Given the description of an element on the screen output the (x, y) to click on. 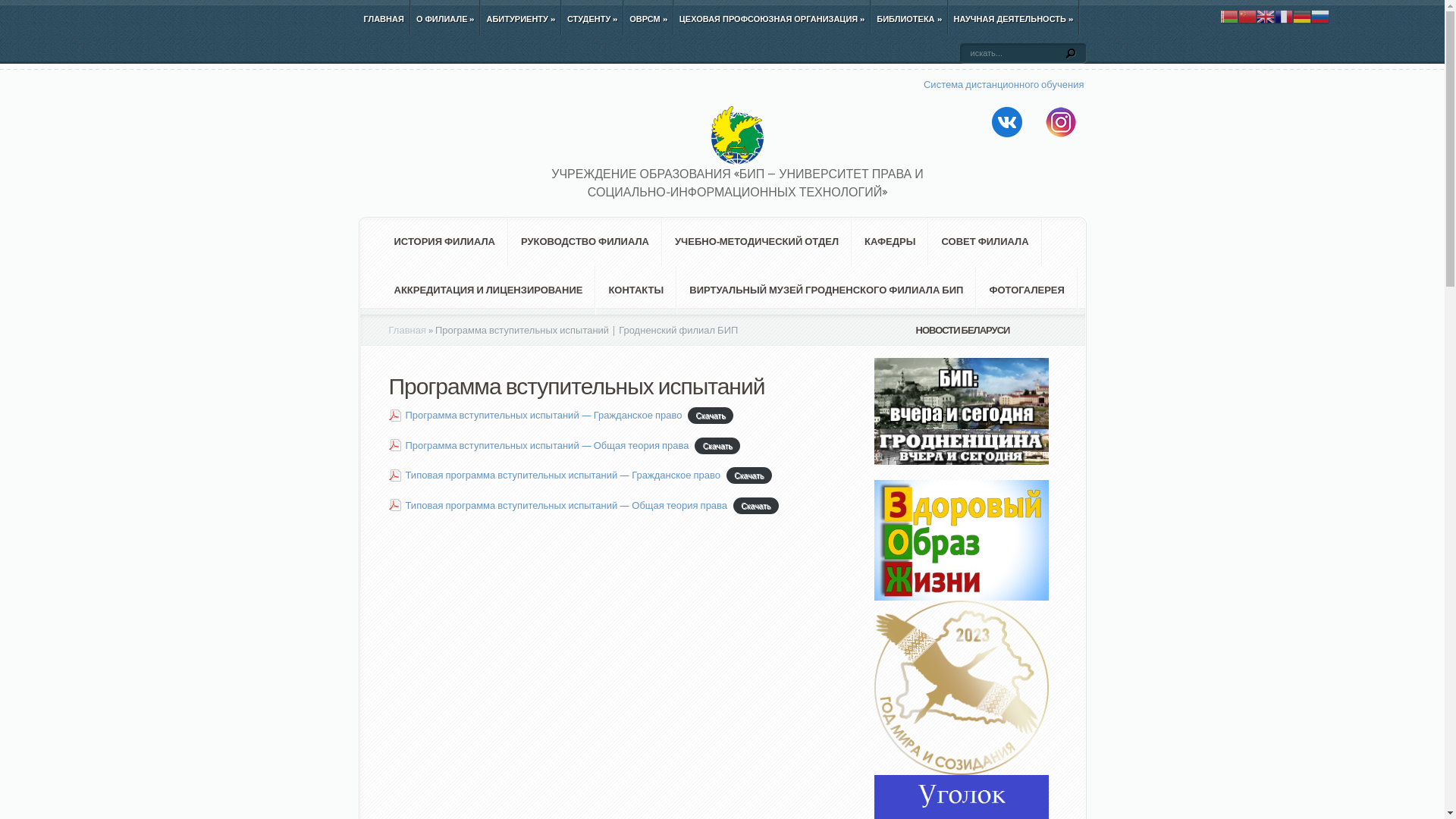
Russian Element type: hover (1320, 15)
Belarusian Element type: hover (1229, 15)
English Element type: hover (1265, 15)
French Element type: hover (1283, 15)
German Element type: hover (1301, 15)
Chinese (Simplified) Element type: hover (1247, 15)
